Given the description of an element on the screen output the (x, y) to click on. 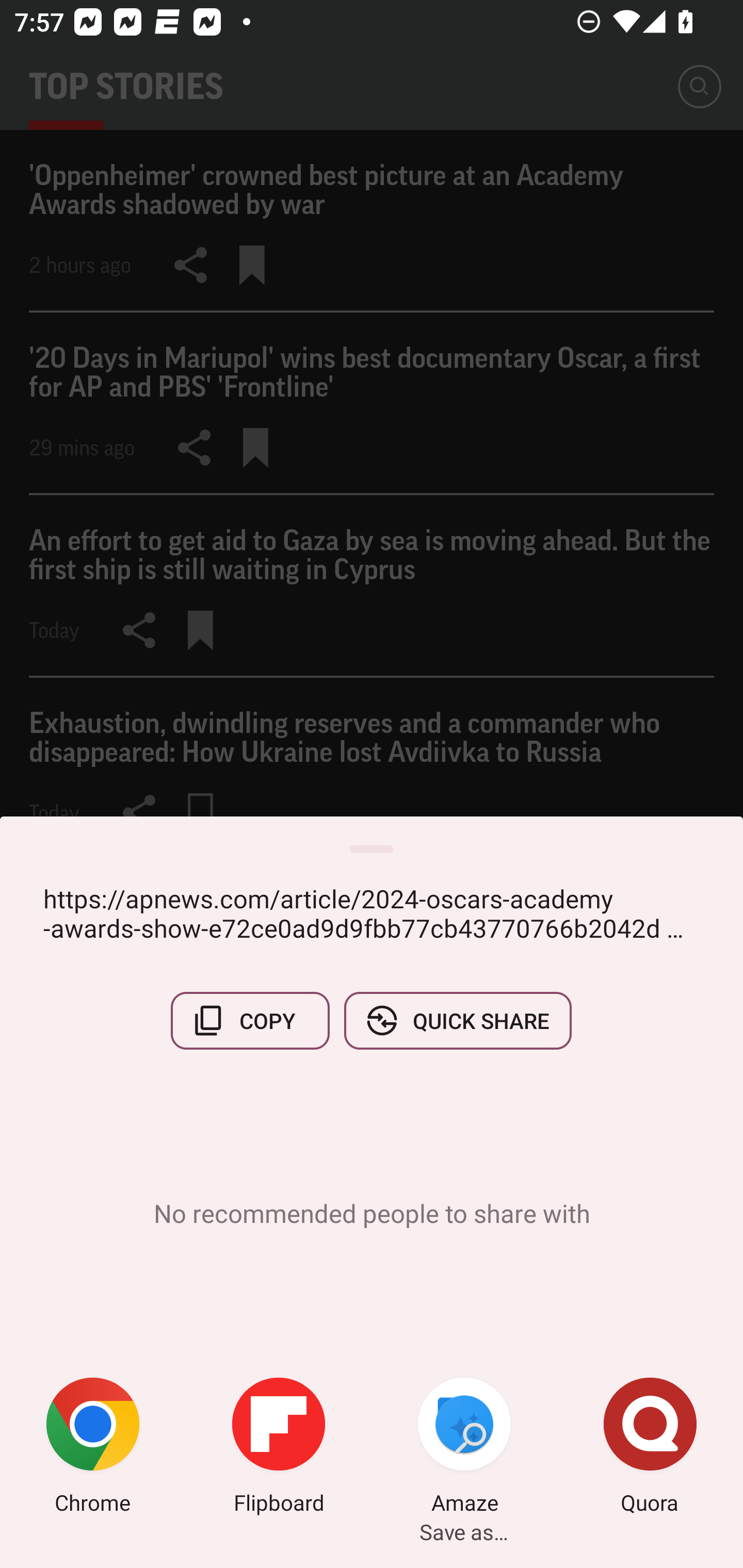
COPY (249, 1020)
QUICK SHARE (457, 1020)
Chrome (92, 1448)
Flipboard (278, 1448)
Amaze Save as… (464, 1448)
Quora (650, 1448)
